Given the description of an element on the screen output the (x, y) to click on. 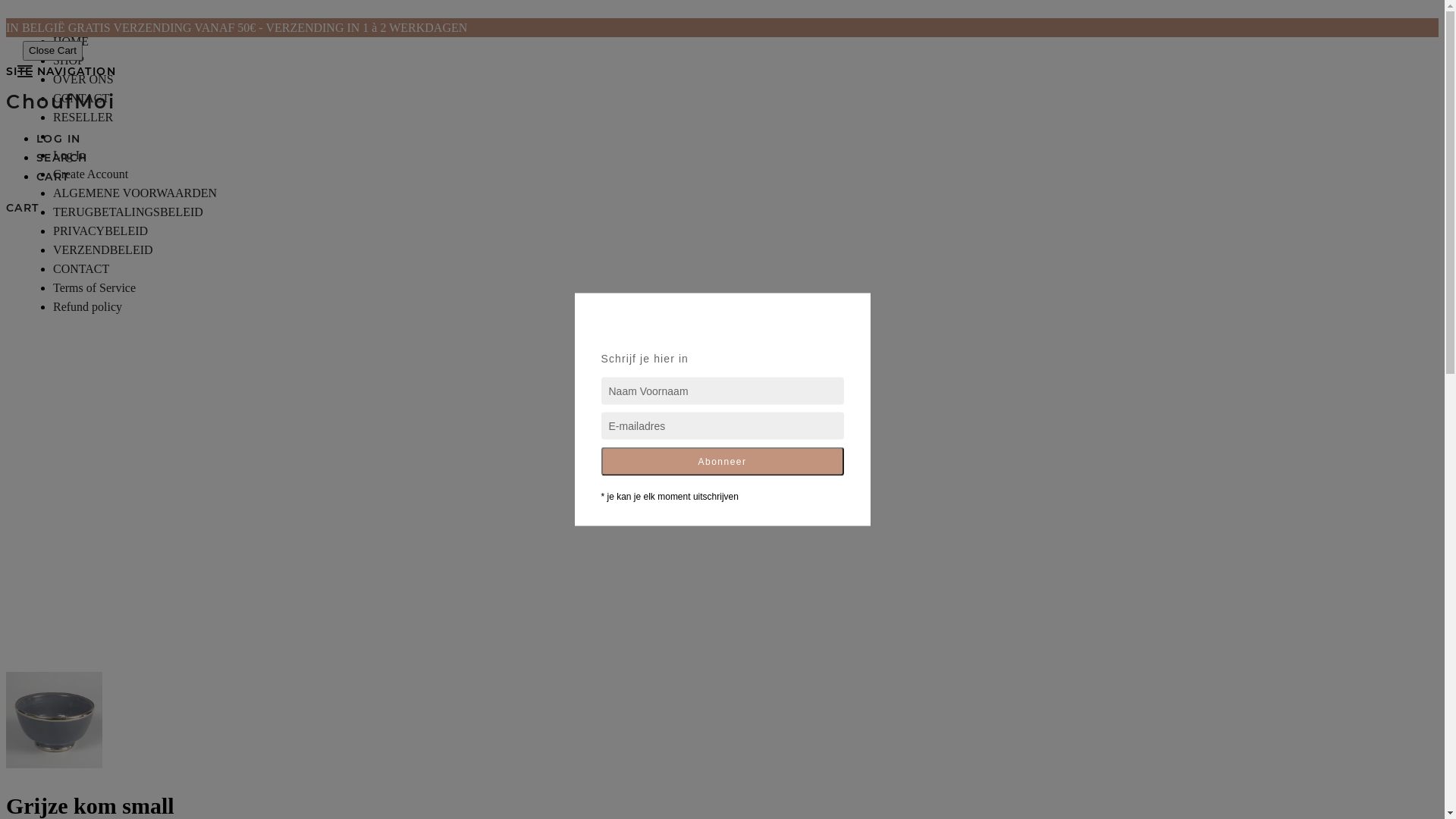
Terms of Service Element type: text (94, 287)
Create Account Element type: text (90, 173)
Refund policy Element type: text (87, 306)
CONTACT Element type: text (81, 268)
SEARCH Element type: text (61, 157)
SITE NAVIGATION Element type: text (24, 71)
RESELLER Element type: text (82, 116)
TERUGBETALINGSBELEID Element type: text (128, 211)
LOG IN Element type: text (58, 138)
VERZENDBELEID Element type: text (103, 249)
HOME Element type: text (70, 40)
ALGEMENE VOORWAARDEN Element type: text (134, 192)
Log In Element type: text (69, 154)
SHOP Element type: text (68, 59)
ChoufMoi Element type: text (60, 101)
PRIVACYBELEID Element type: text (100, 230)
Close Cart Element type: text (52, 50)
OVER ONS Element type: text (83, 78)
CONTACT Element type: text (81, 97)
CART Element type: text (22, 207)
CART Element type: text (52, 176)
